Given the description of an element on the screen output the (x, y) to click on. 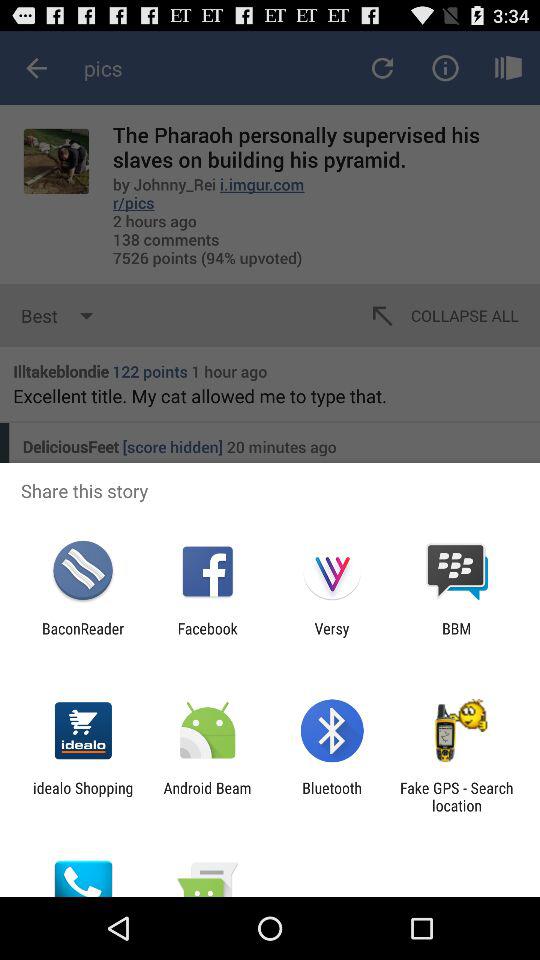
scroll until the versy app (331, 637)
